Given the description of an element on the screen output the (x, y) to click on. 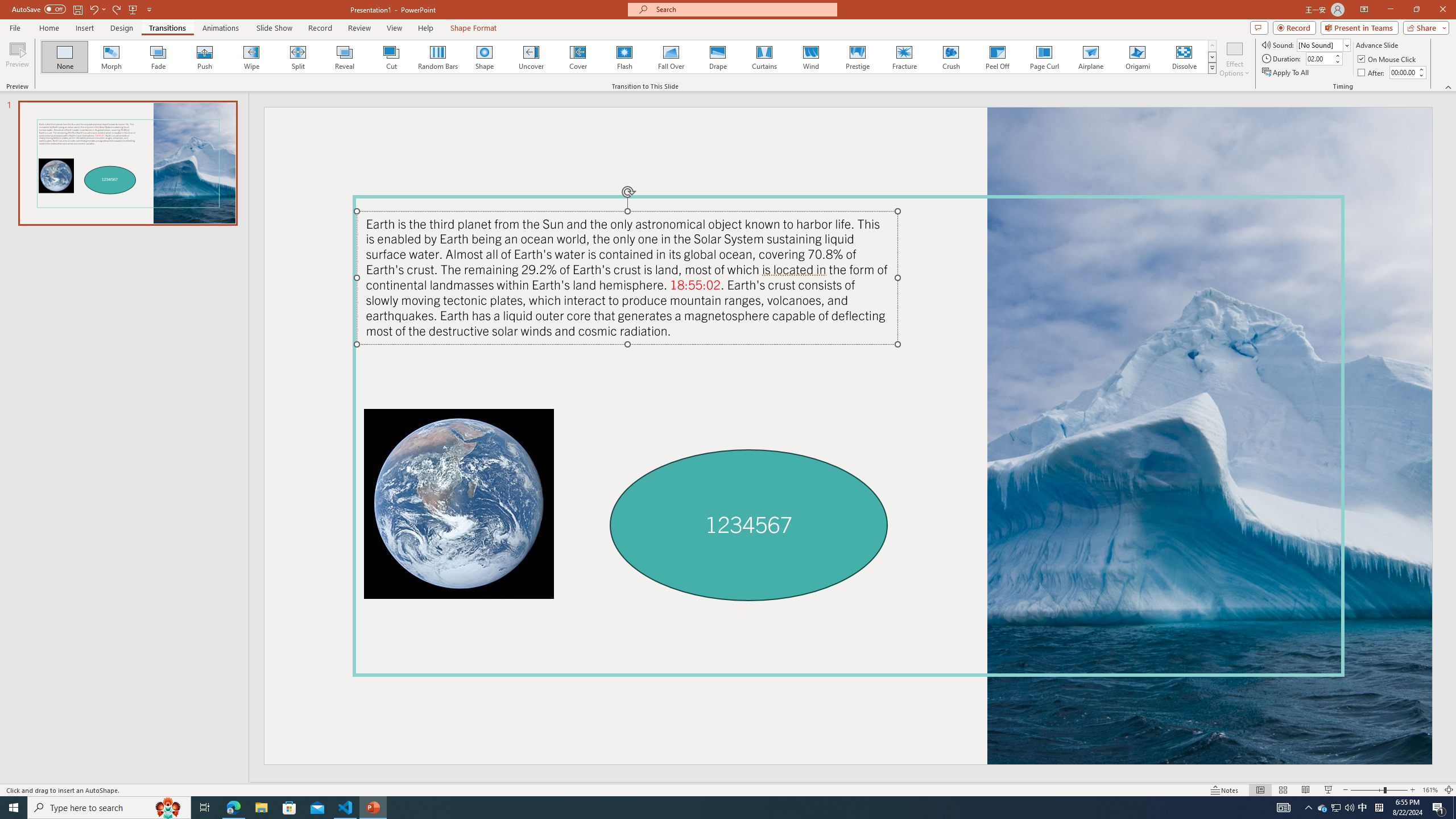
Fall Over (670, 56)
Wind (810, 56)
AutomationID: AnimationTransitionGallery (628, 56)
Wipe (251, 56)
None (65, 56)
Uncover (531, 56)
